Given the description of an element on the screen output the (x, y) to click on. 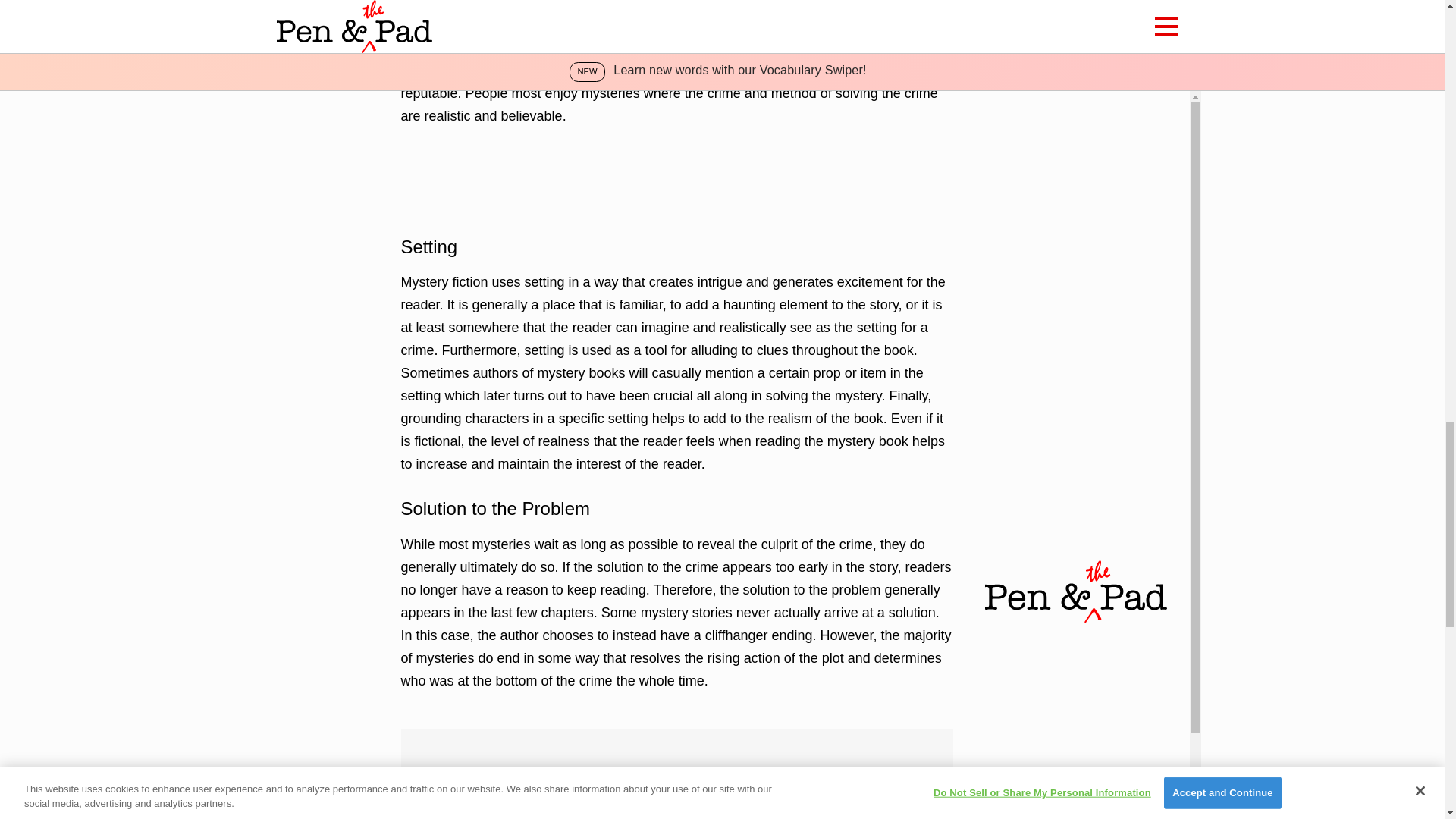
3rd party ad content (676, 179)
